Given the description of an element on the screen output the (x, y) to click on. 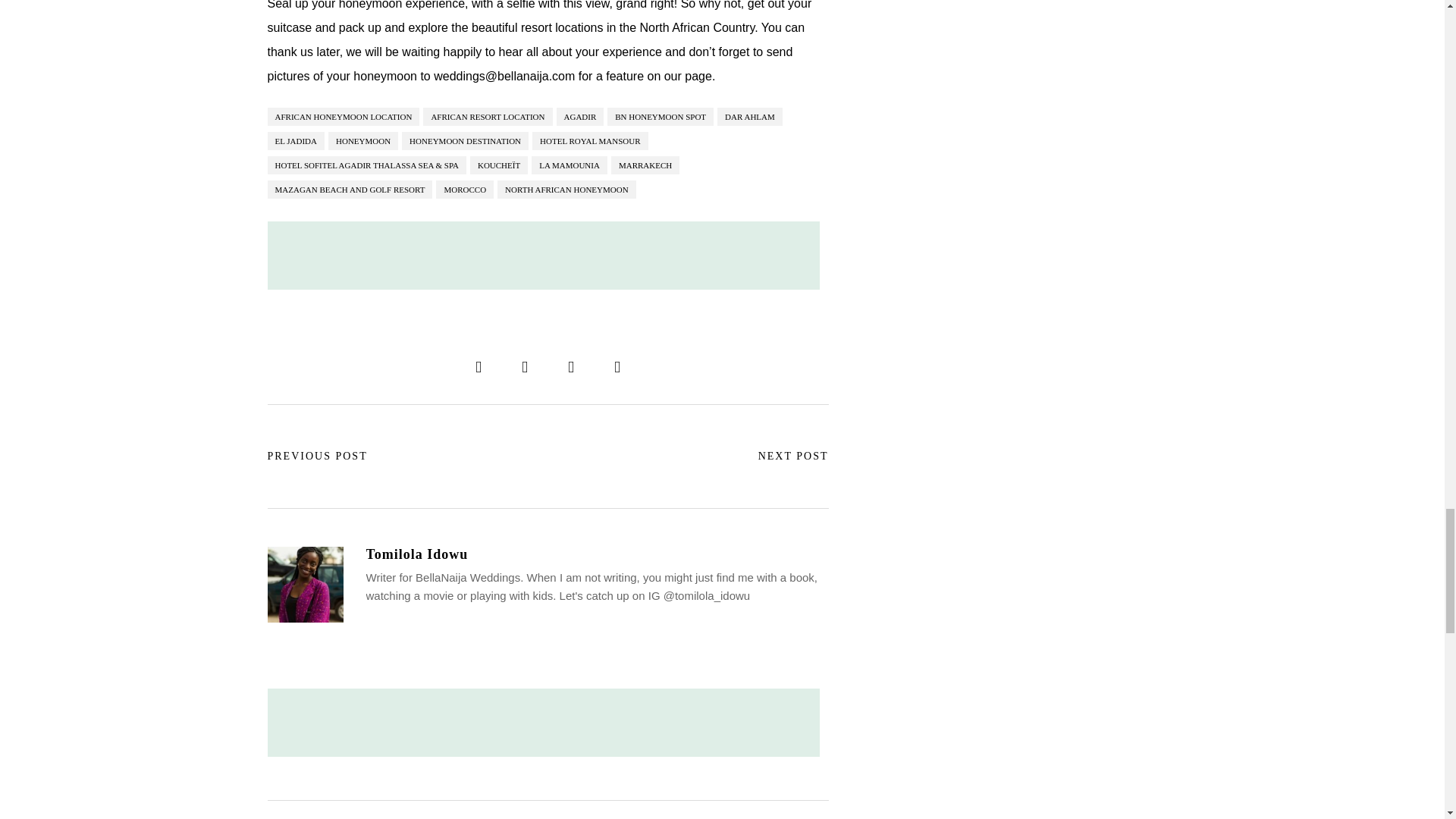
AFRICAN RESORT LOCATION (487, 116)
MAZAGAN BEACH AND GOLF RESORT (349, 189)
HONEYMOON DESTINATION (464, 140)
HOTEL ROYAL MANSOUR (589, 140)
HONEYMOON (363, 140)
LA MAMOUNIA (569, 165)
AFRICAN HONEYMOON LOCATION (342, 116)
BN HONEYMOON SPOT (660, 116)
EL JADIDA (295, 140)
DAR AHLAM (750, 116)
MARRAKECH (645, 165)
Posts by Tomilola Idowu (596, 554)
AGADIR (580, 116)
MOROCCO (464, 189)
NORTH AFRICAN HONEYMOON (566, 189)
